Given the description of an element on the screen output the (x, y) to click on. 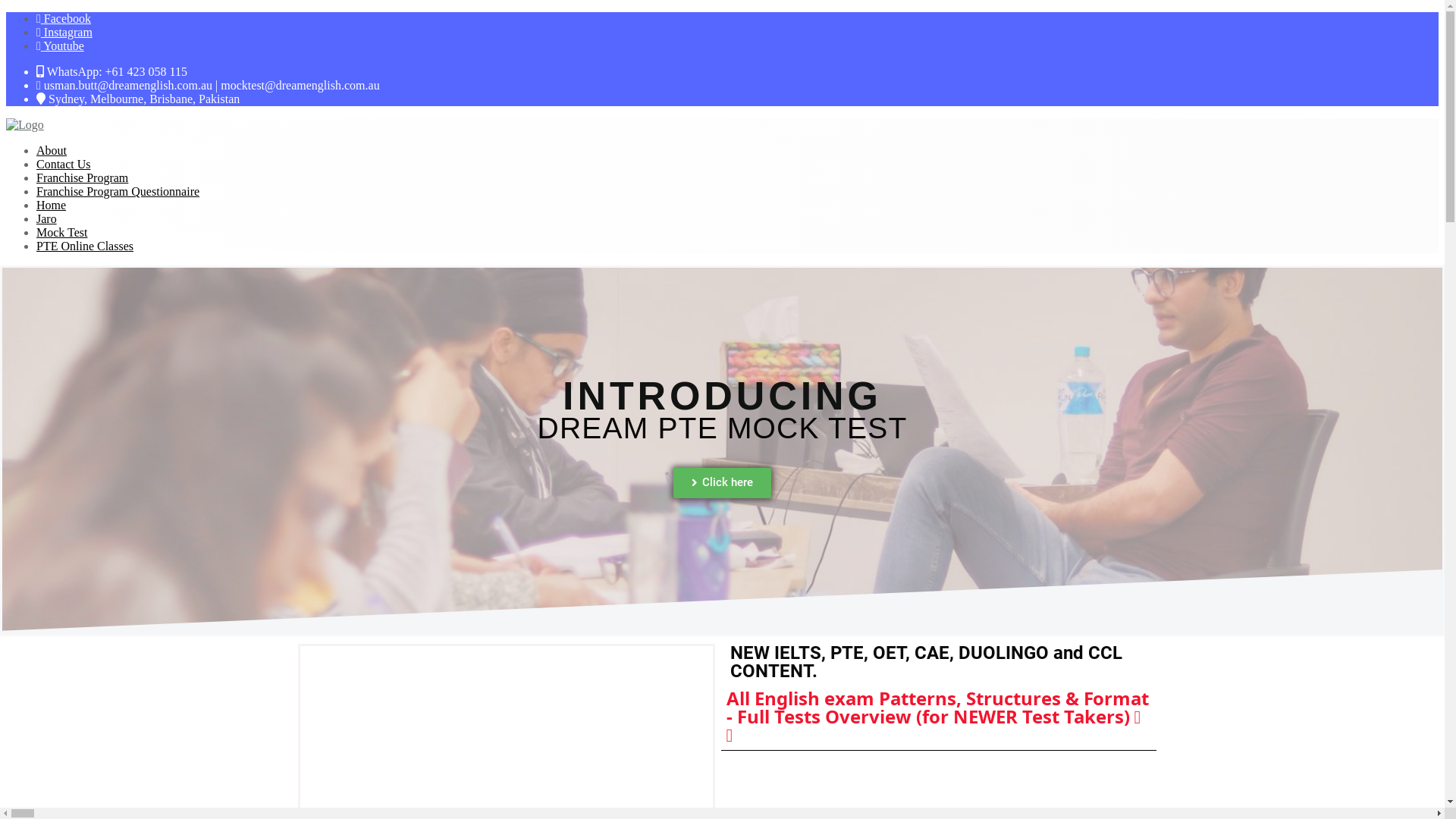
Franchise Program Element type: text (82, 177)
PTE Online Classes Element type: text (84, 245)
Home Element type: text (50, 204)
About Element type: text (51, 150)
Jaro Element type: text (46, 218)
Instagram Element type: text (64, 31)
Youtube Element type: text (60, 45)
Facebook Element type: text (63, 18)
Contact Us Element type: text (63, 163)
Franchise Program Questionnaire Element type: text (117, 191)
Click here Element type: text (722, 482)
Mock Test Element type: text (61, 231)
